Given the description of an element on the screen output the (x, y) to click on. 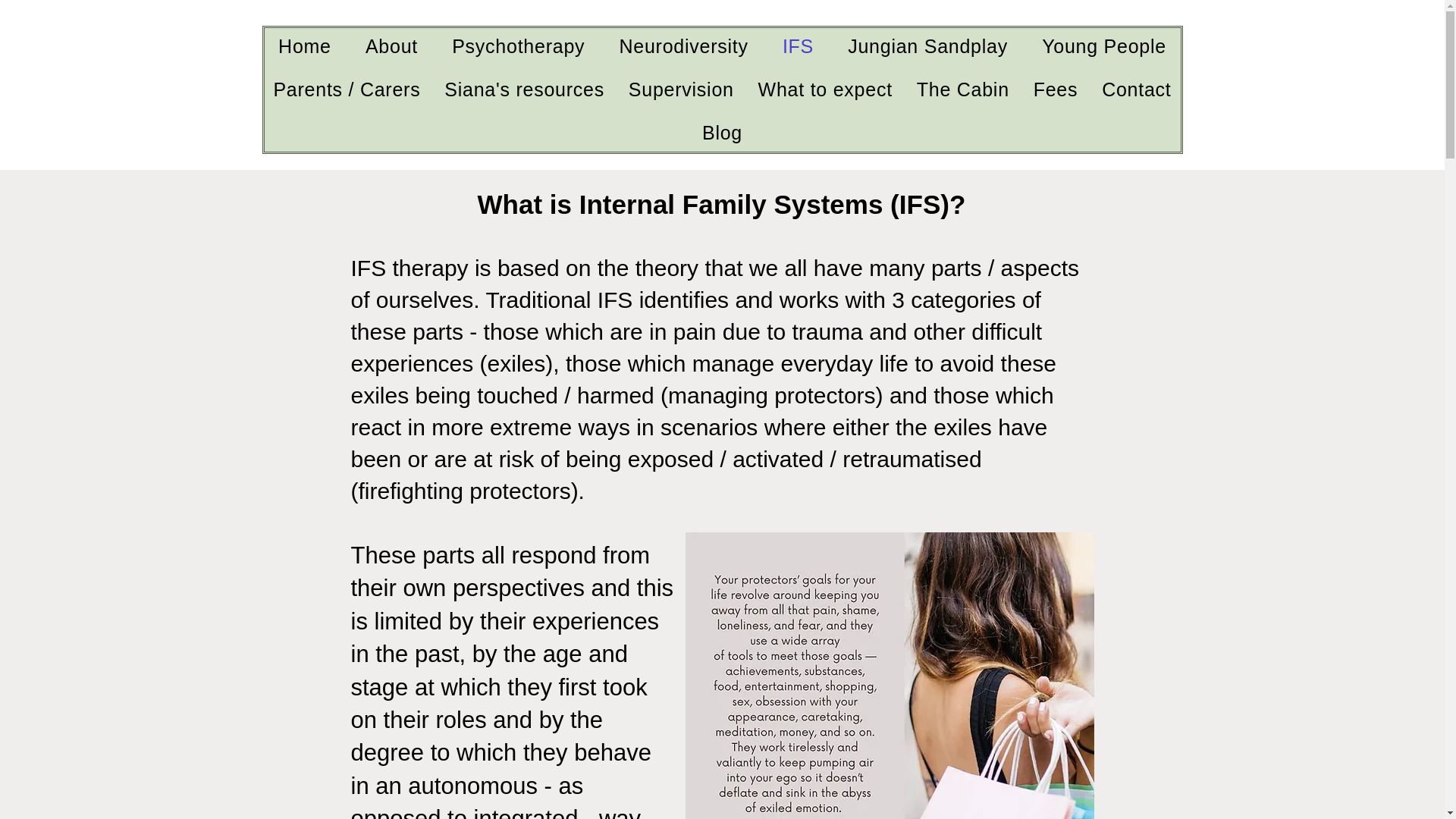
Fees (1055, 89)
The Cabin (962, 89)
What to expect (825, 89)
Contact (1136, 89)
Psychotherapy (518, 46)
Supervision (681, 89)
IFS (797, 46)
Blog (721, 132)
Jungian Sandplay (928, 46)
Home (304, 46)
